Given the description of an element on the screen output the (x, y) to click on. 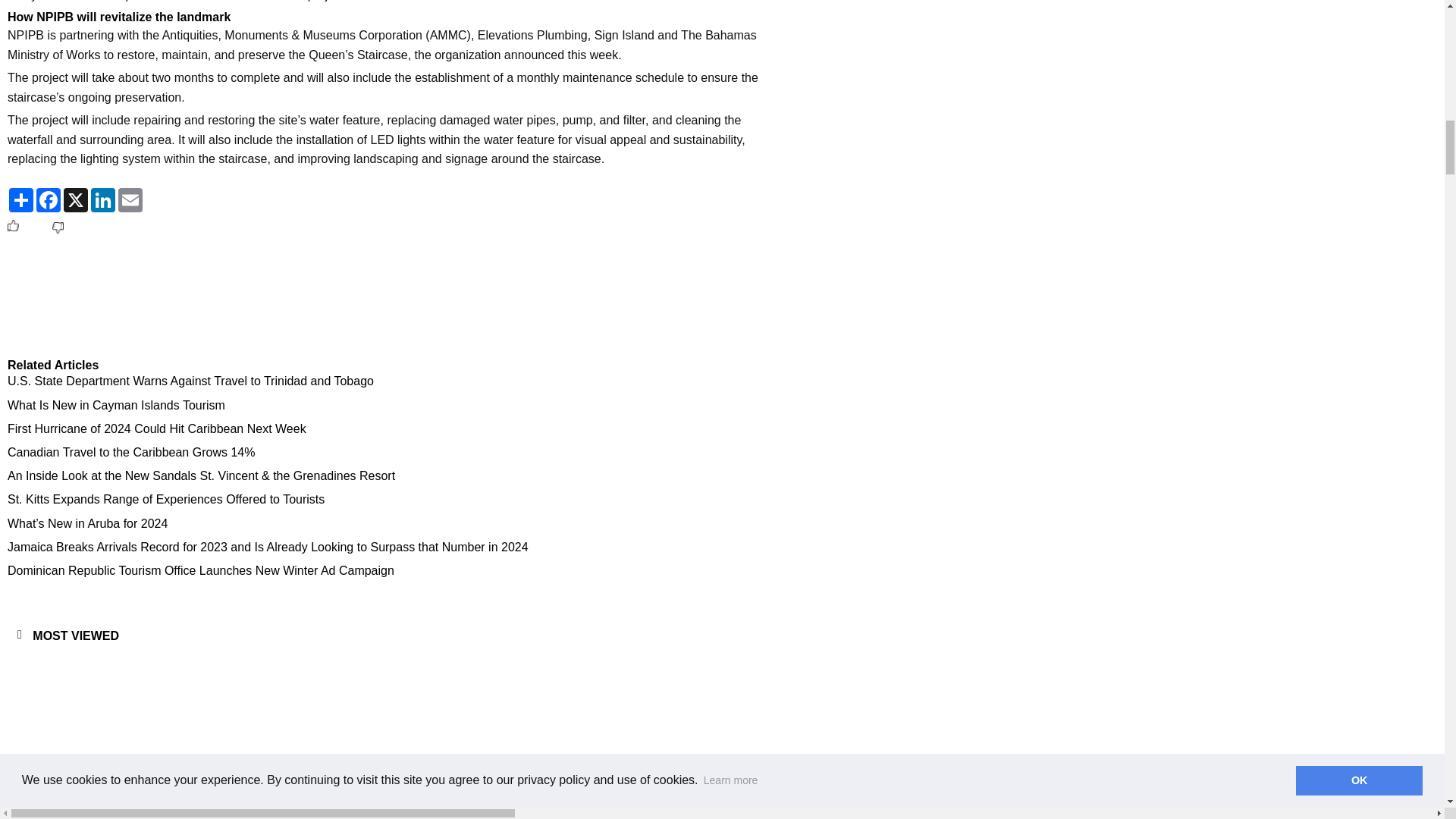
Facebook (48, 200)
X (75, 200)
LinkedIn (102, 200)
